Given the description of an element on the screen output the (x, y) to click on. 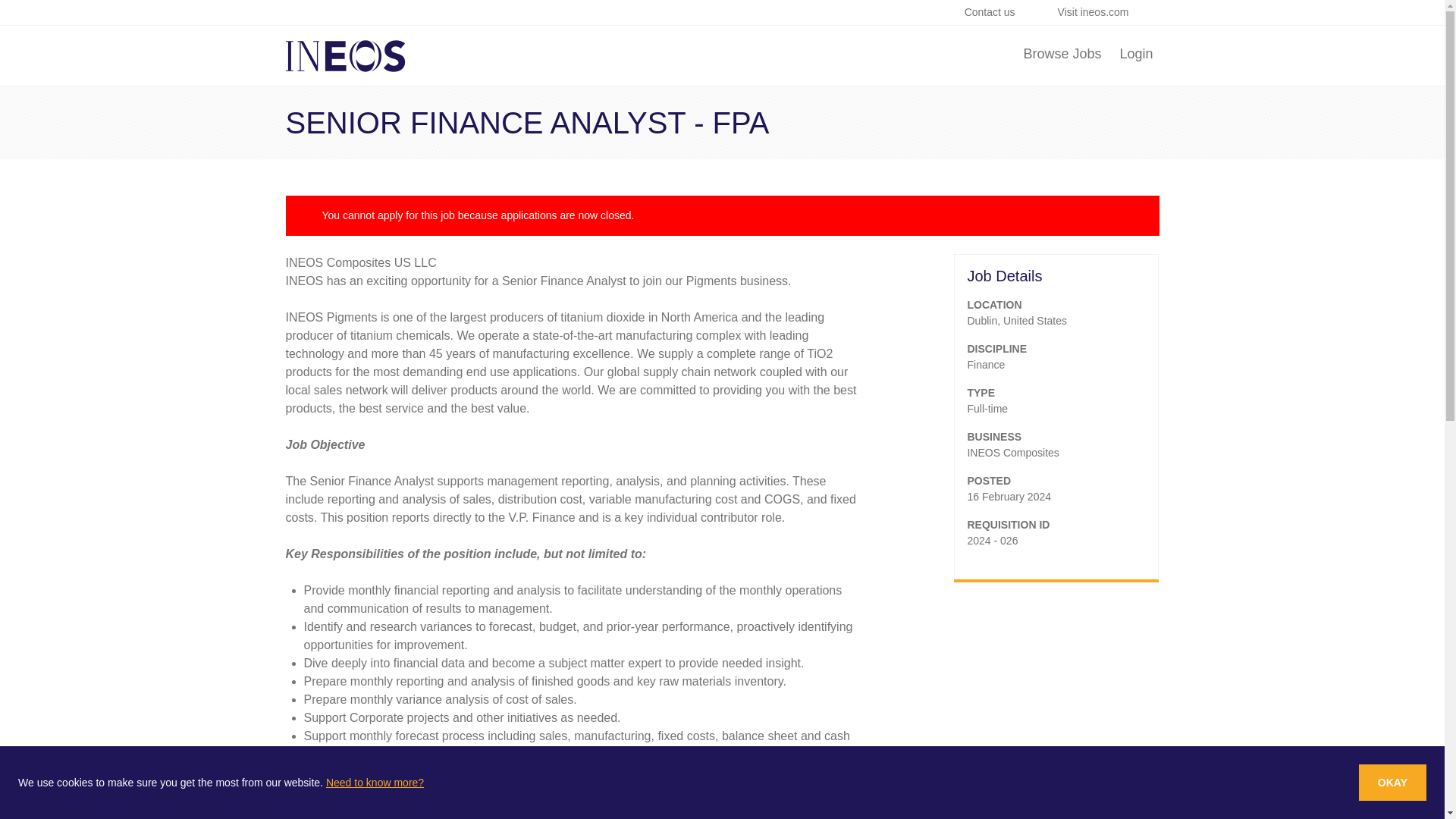
Contact us (998, 12)
Browse Jobs (1061, 55)
OKAY (1392, 782)
Need to know more? (374, 782)
Visit ineos.com (1101, 12)
